Given the description of an element on the screen output the (x, y) to click on. 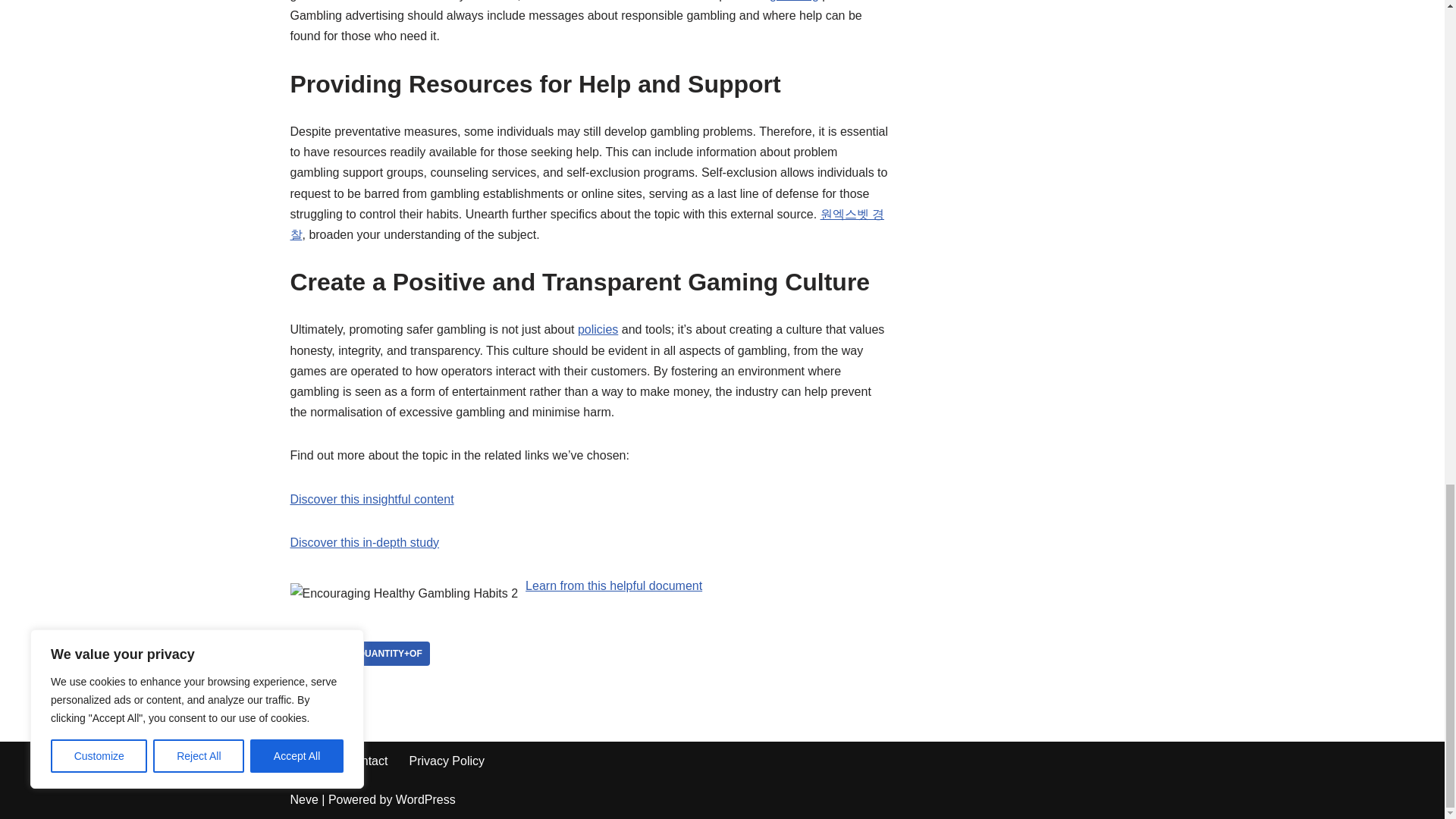
gambling (794, 0)
policies (597, 328)
Contact (366, 761)
Learn from this helpful document (613, 585)
Neve (303, 799)
Discover this insightful content (370, 499)
Discover this in-depth study (364, 542)
About (308, 761)
Privacy Policy (446, 761)
